Given the description of an element on the screen output the (x, y) to click on. 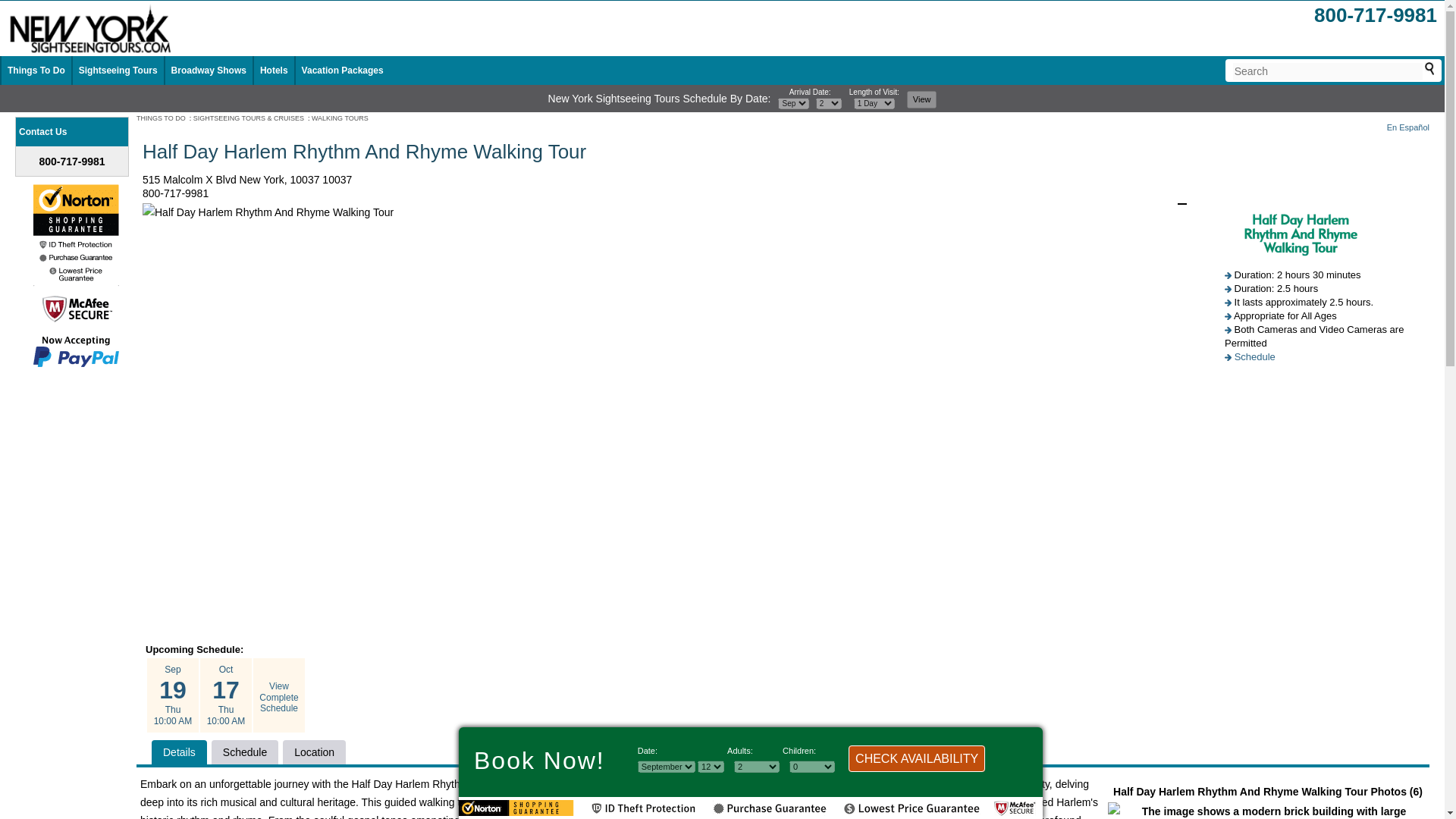
Things To Do (36, 70)
Schedule (244, 752)
Hotels (274, 70)
View (922, 99)
WALKING TOURS (339, 118)
THINGS TO DO (161, 118)
View (922, 99)
Broadway Shows (208, 70)
Location (314, 752)
View Complete Schedule (278, 696)
